Given the description of an element on the screen output the (x, y) to click on. 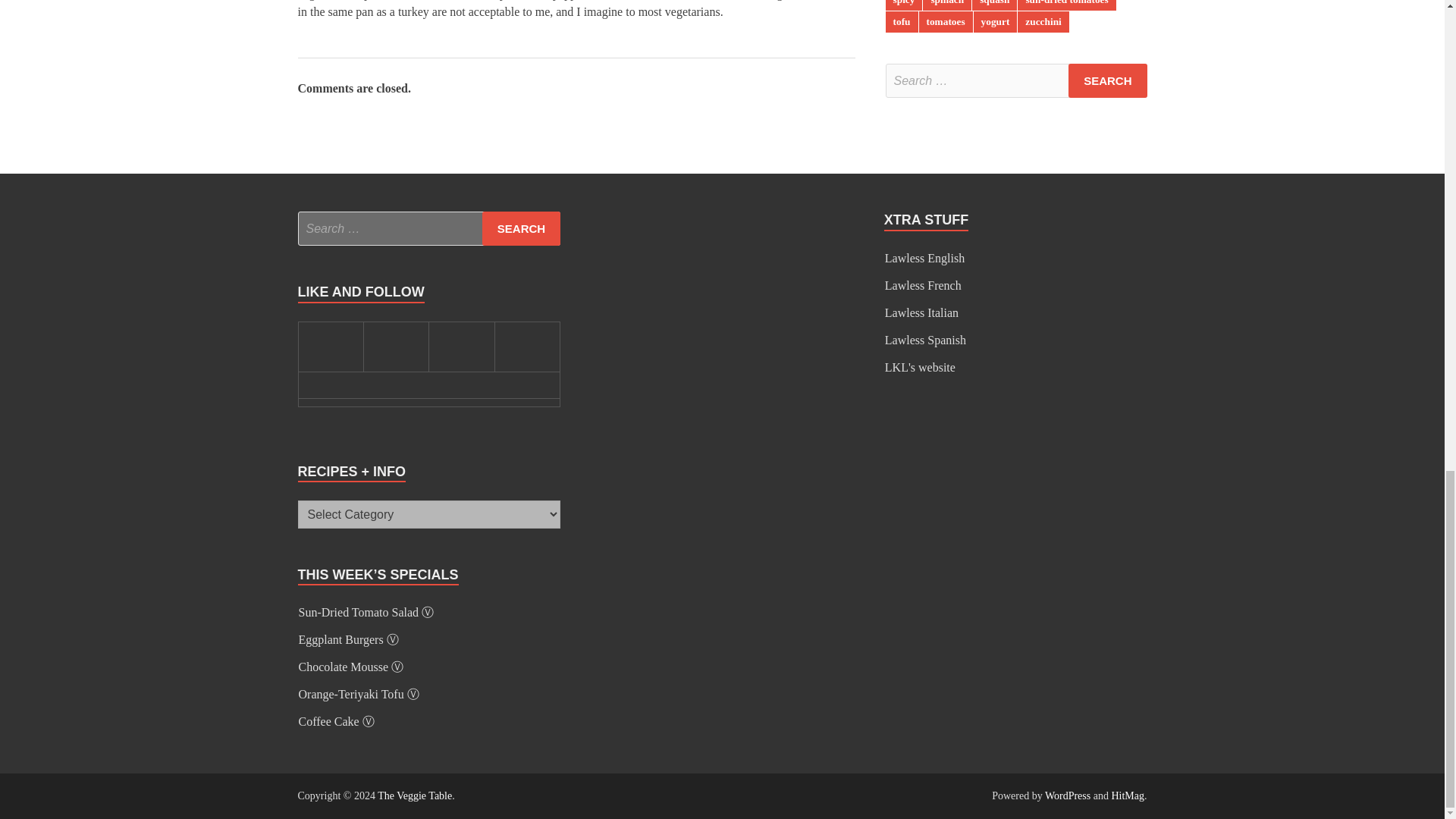
Search (1107, 80)
Search (1107, 80)
WordPress (1067, 795)
HitMag WordPress Theme (1127, 795)
Learn French online (922, 285)
Learn English online (924, 257)
Search (520, 228)
Search (520, 228)
The Veggie Table (414, 795)
